Given the description of an element on the screen output the (x, y) to click on. 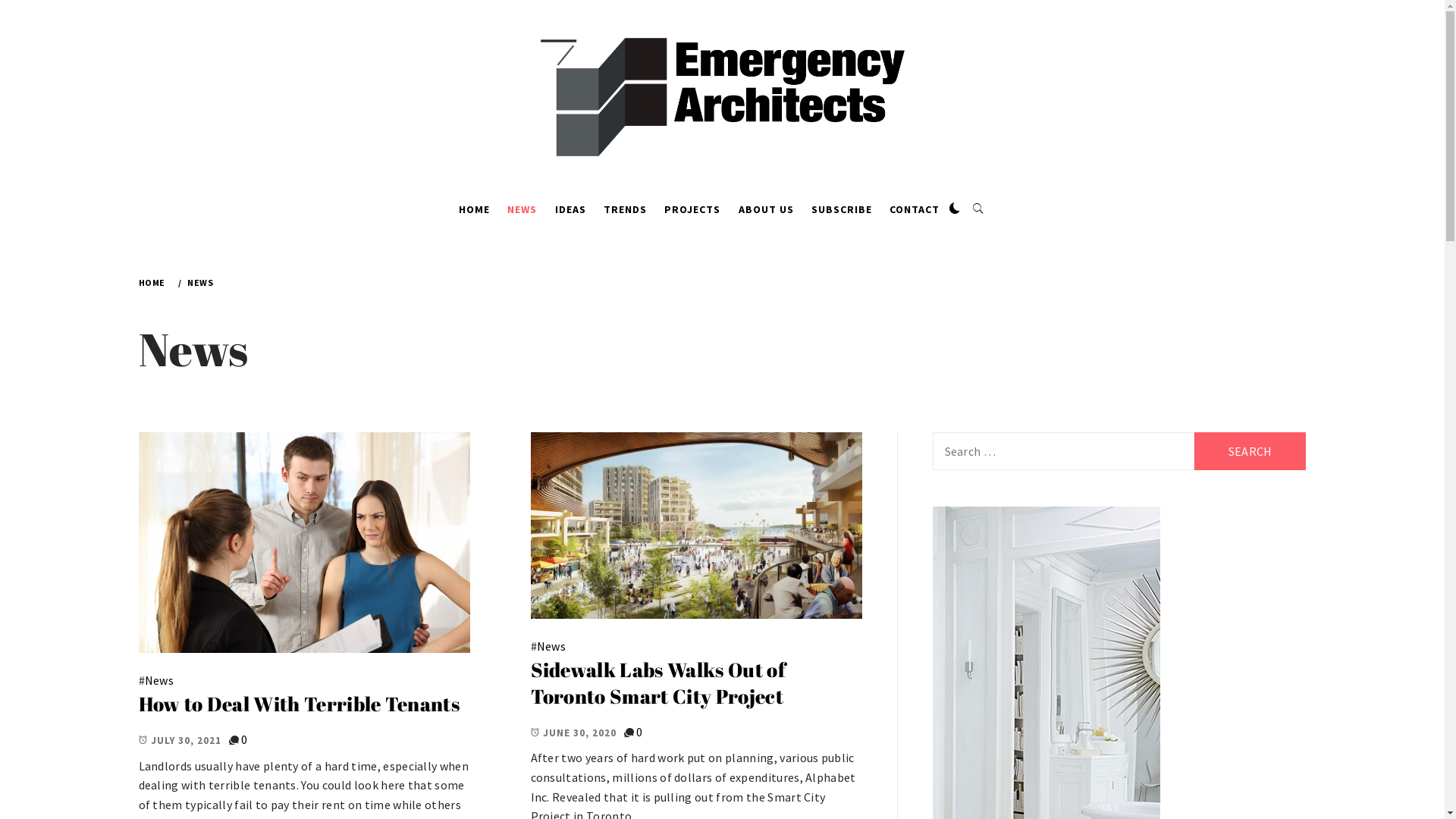
SUBSCRIBE Element type: text (841, 209)
How to Deal With Terrible Tenants Element type: text (298, 703)
NEWS Element type: text (198, 282)
ABOUT US Element type: text (766, 209)
Search Element type: text (1250, 451)
Sidewalk Labs Walks Out of Toronto Smart City Project Element type: text (657, 682)
JUNE 30, 2020 Element type: text (573, 732)
0 Element type: text (244, 738)
HOME Element type: text (153, 282)
PROJECTS Element type: text (692, 209)
0 Element type: text (639, 731)
News Element type: text (158, 679)
IDEAS Element type: text (570, 209)
NEWS Element type: text (521, 209)
Search Element type: text (645, 37)
News Element type: text (550, 645)
JULY 30, 2021 Element type: text (179, 740)
HOME Element type: text (474, 209)
TRENDS Element type: text (625, 209)
CONTACT Element type: text (914, 209)
